Given the description of an element on the screen output the (x, y) to click on. 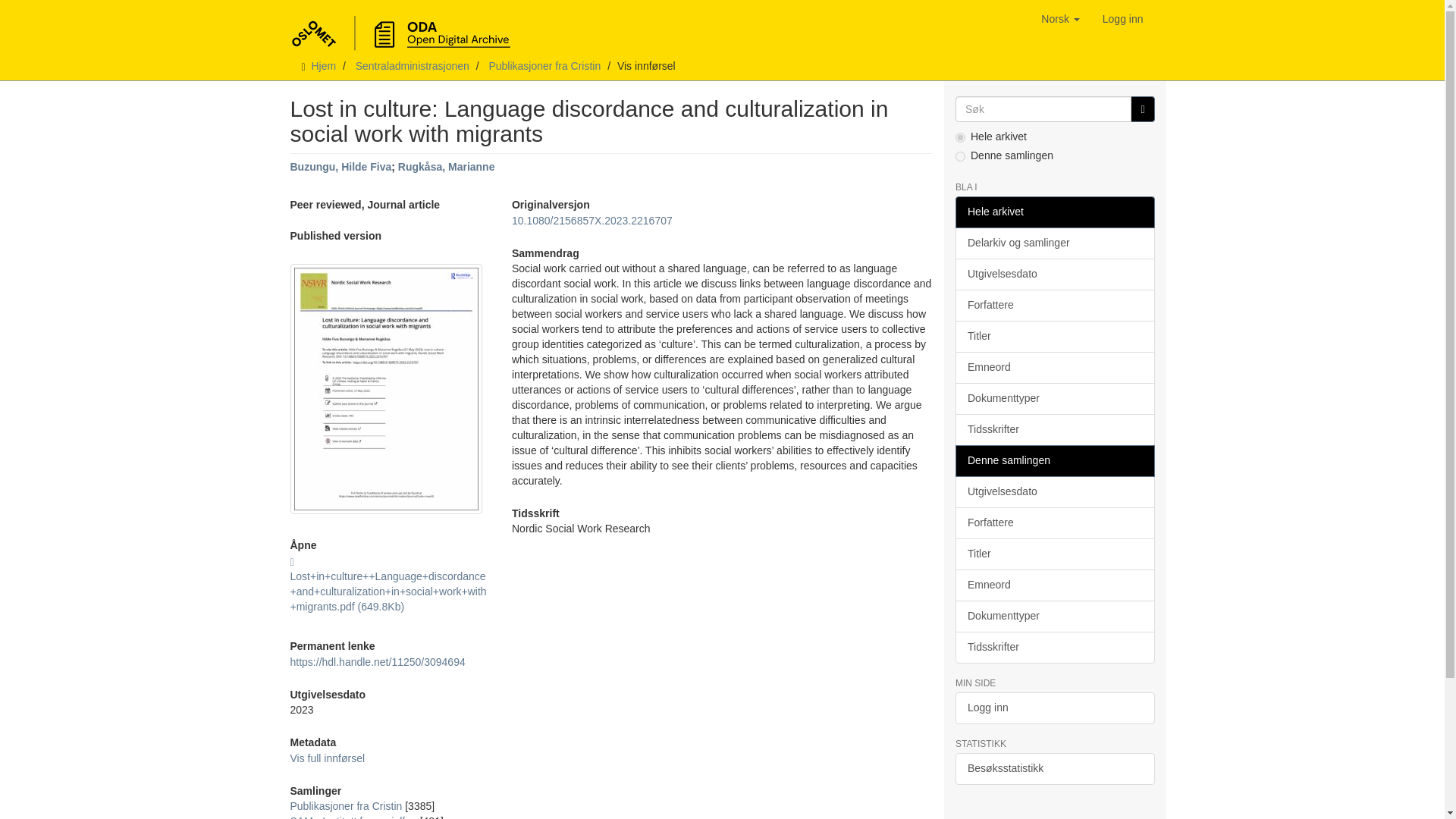
Publikasjoner fra Cristin (345, 806)
Delarkiv og samlinger (1054, 243)
Utgivelsesdato (1054, 274)
Forfattere (1054, 305)
SAM - Institutt for sosialfag (352, 816)
Logg inn (1122, 18)
Buzungu, Hilde Fiva (340, 166)
Norsk  (1059, 18)
Publikasjoner fra Cristin (543, 65)
Hele arkivet (1054, 212)
